Given the description of an element on the screen output the (x, y) to click on. 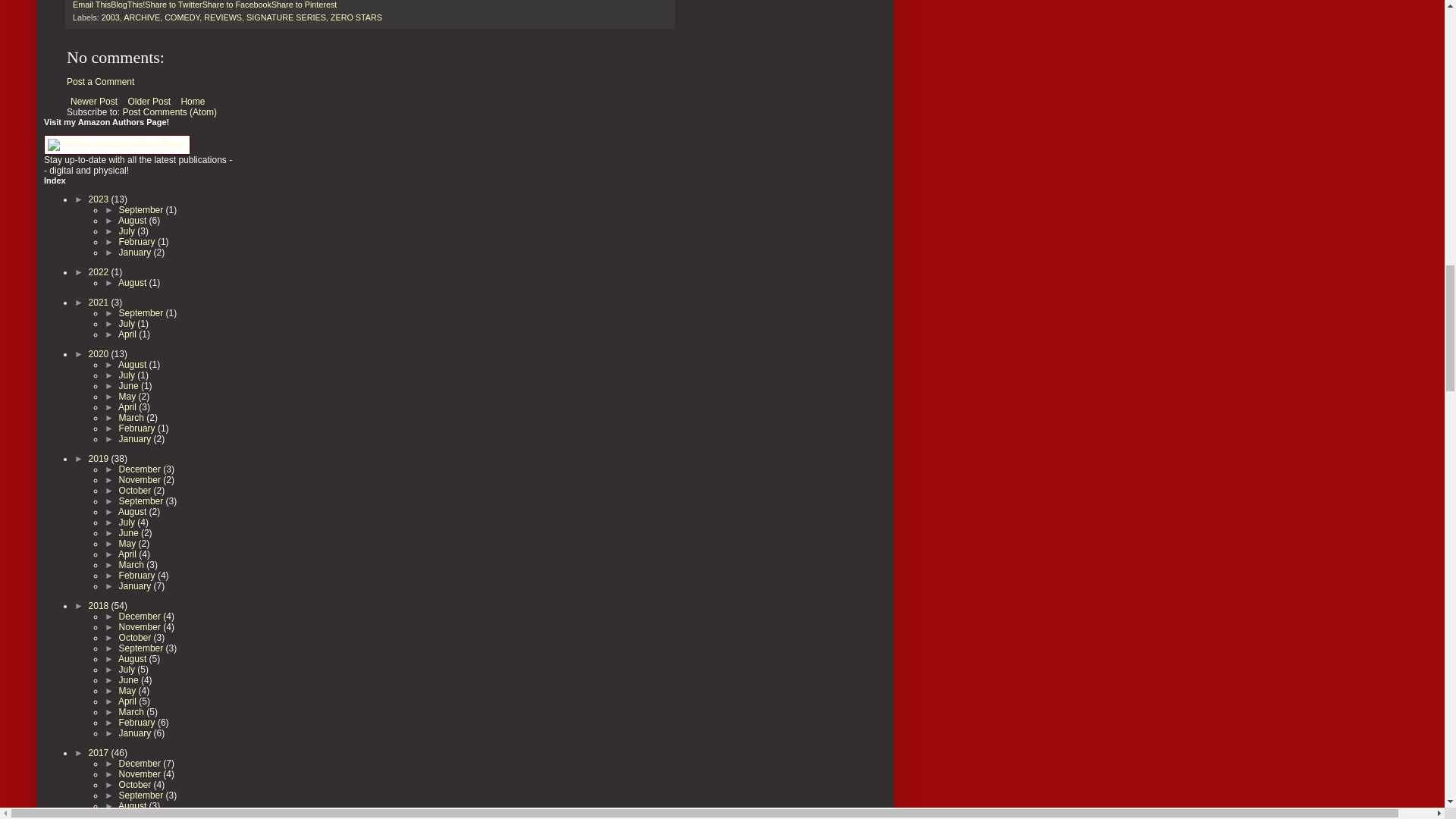
Newer Post (93, 101)
September (142, 209)
ARCHIVE (141, 17)
BlogThis! (127, 4)
Share to Twitter (173, 4)
SIGNATURE SERIES (286, 17)
REVIEWS (222, 17)
Share to Facebook (236, 4)
Share to Pinterest (303, 4)
Email This (91, 4)
ZERO STARS (355, 17)
COMEDY (181, 17)
Newer Post (93, 101)
Home (192, 101)
Older Post (148, 101)
